Given the description of an element on the screen output the (x, y) to click on. 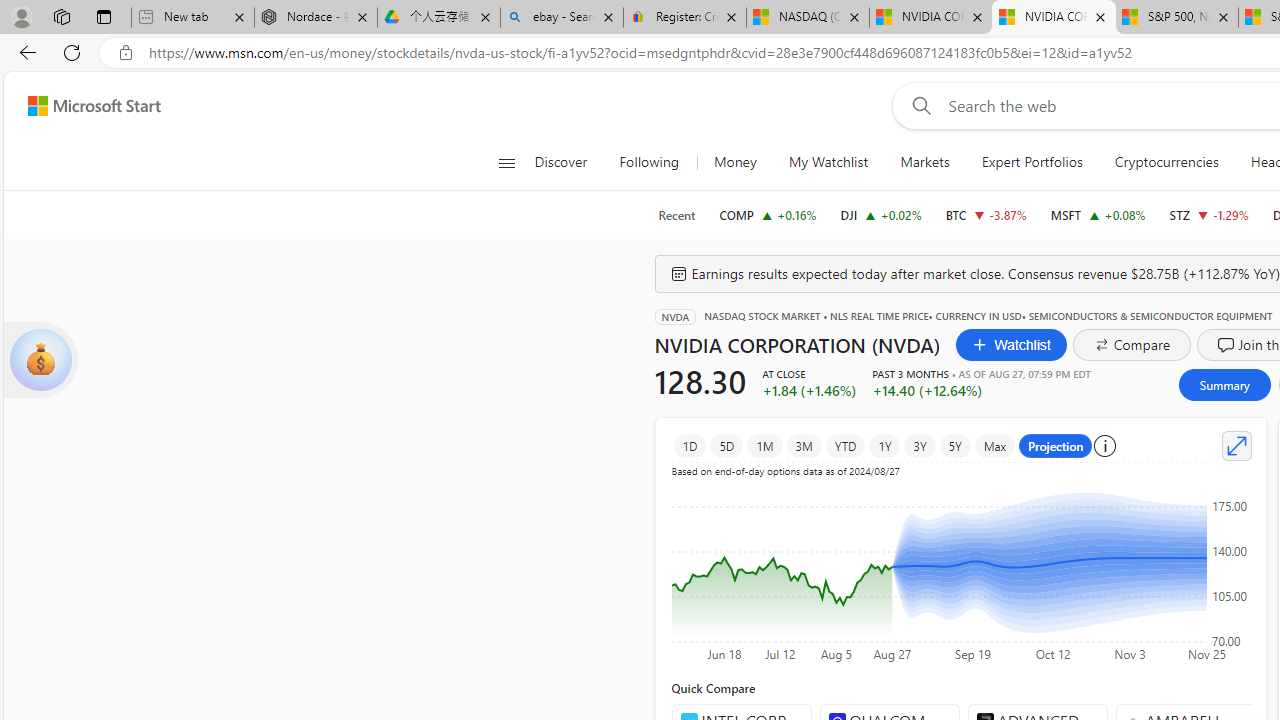
1D (689, 445)
Markets (924, 162)
Cryptocurrencies (1165, 162)
Max (995, 445)
Class: recharts-surface (960, 566)
3Y (919, 445)
DJI DOW increase 41,250.50 +9.98 +0.02% (881, 214)
My Watchlist (828, 162)
Expert Portfolios (1031, 162)
Expert Portfolios (1032, 162)
